Given the description of an element on the screen output the (x, y) to click on. 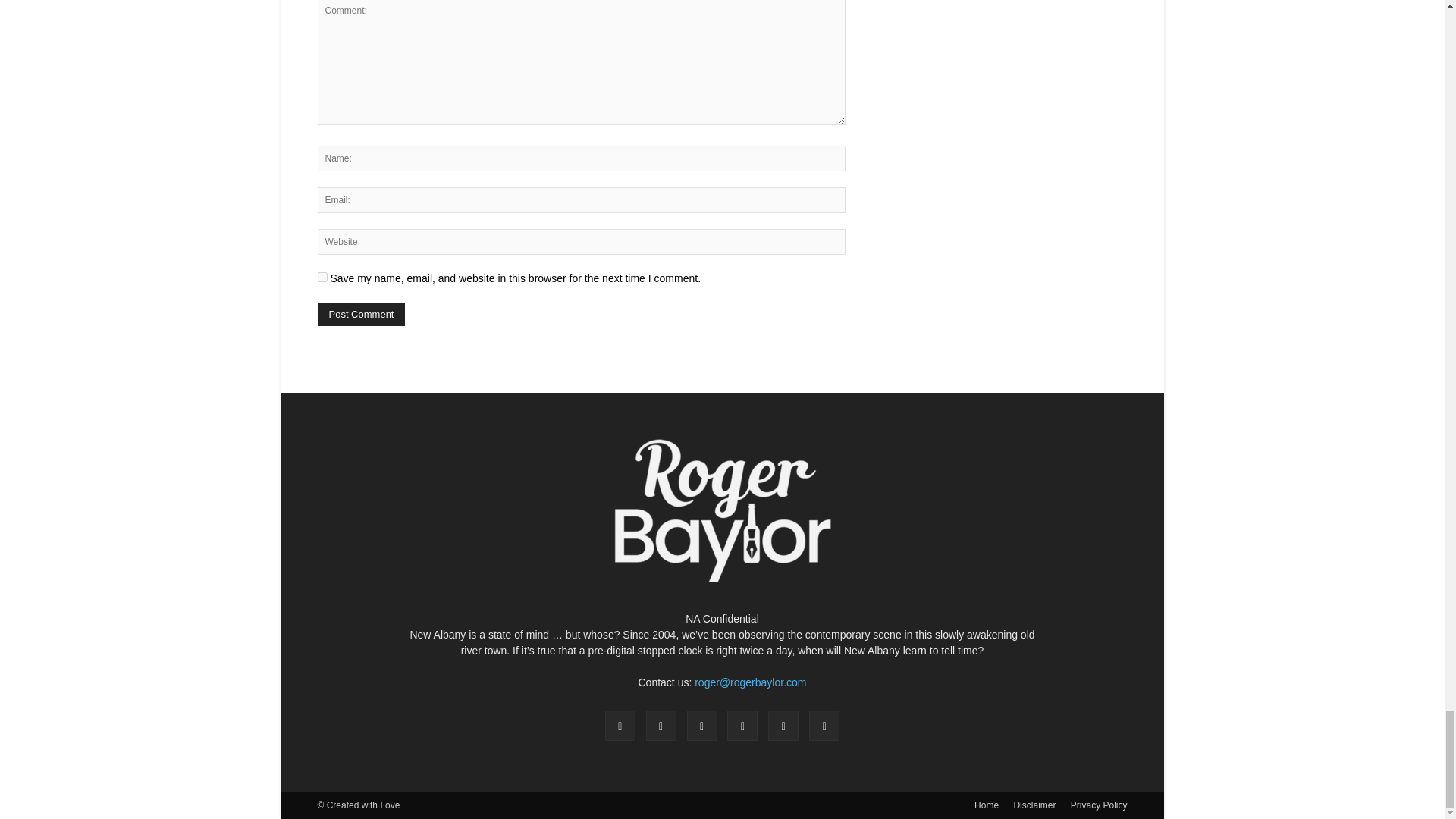
Post Comment (360, 313)
yes (321, 276)
